Given the description of an element on the screen output the (x, y) to click on. 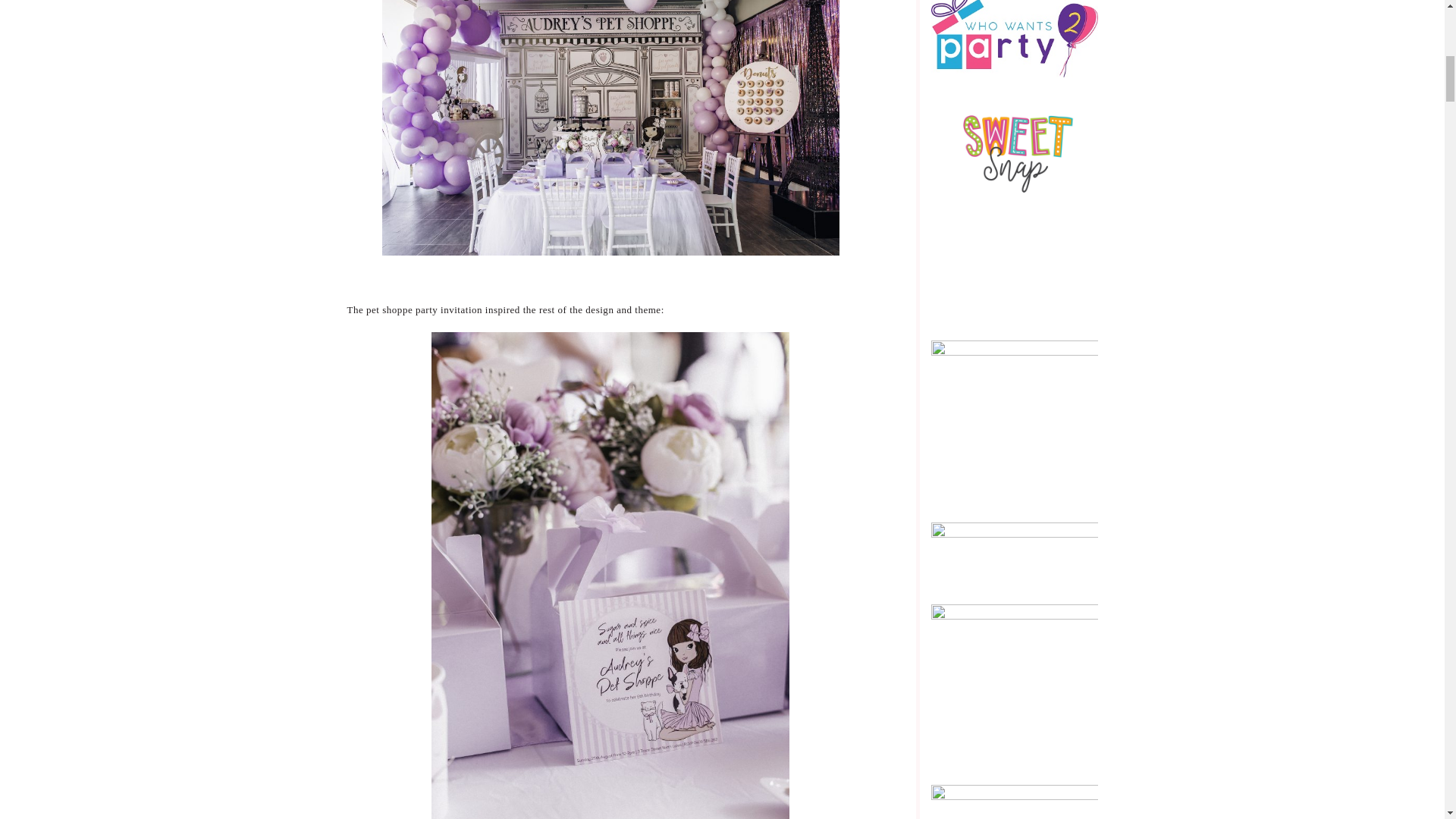
bright balloons (1014, 274)
Who wants 2 party (1014, 31)
Sweet Flora Desserts (1014, 685)
Sweet Snap Sydney (1014, 150)
Hired style (1014, 554)
Jungle Buddies (1014, 422)
